Given the description of an element on the screen output the (x, y) to click on. 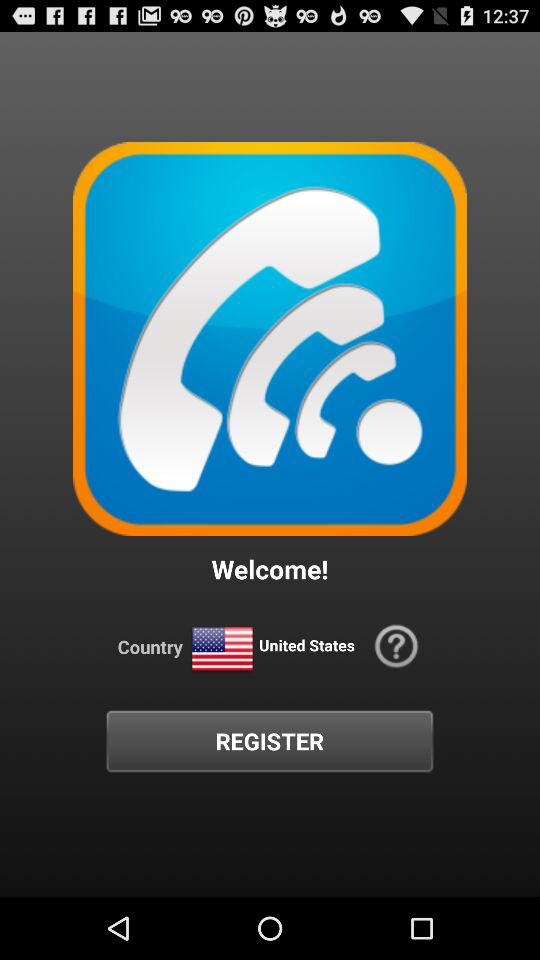
click the app next to country icon (221, 649)
